Given the description of an element on the screen output the (x, y) to click on. 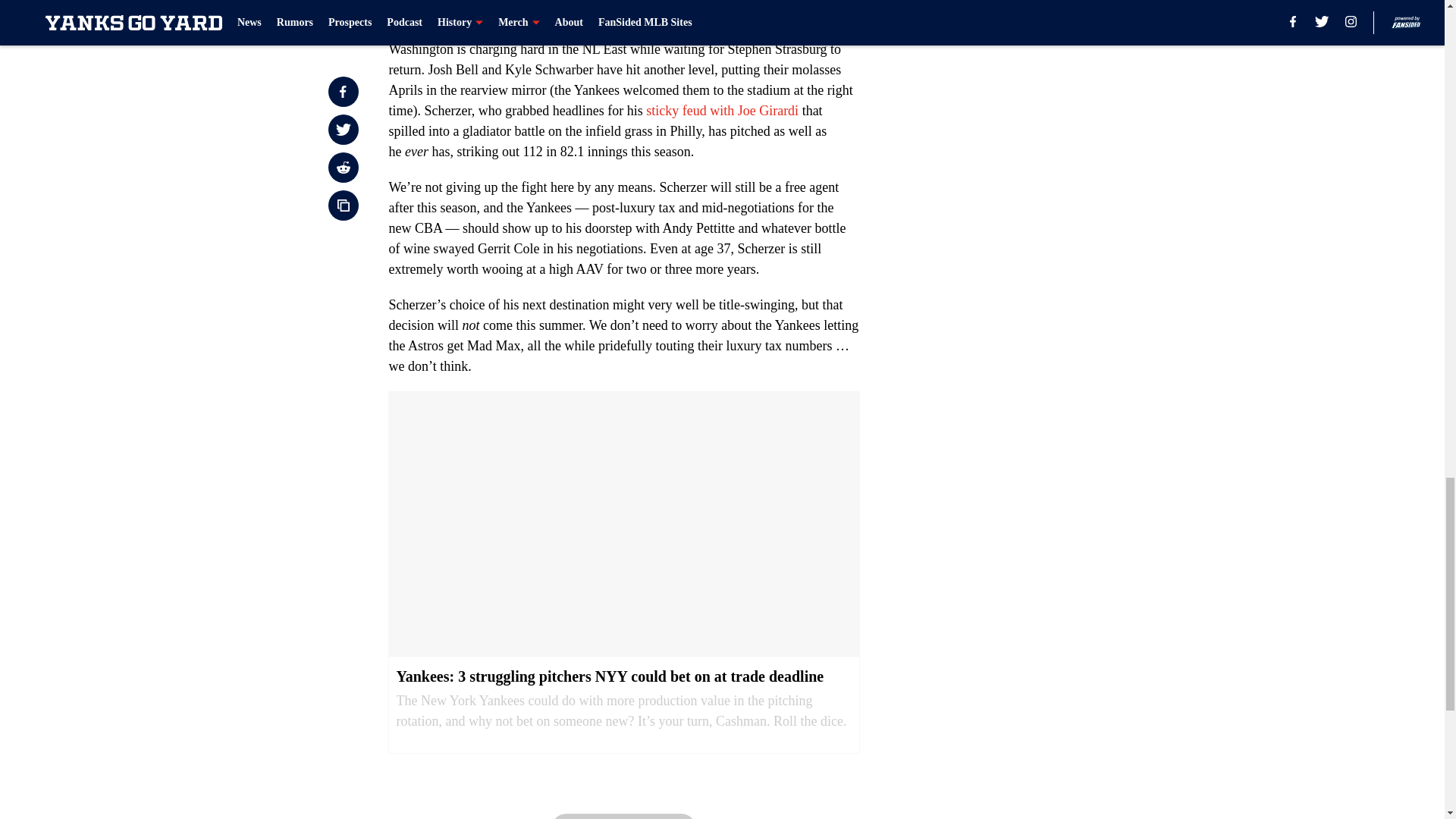
Next (622, 816)
sticky feud with Joe Girardi (721, 110)
